Given the description of an element on the screen output the (x, y) to click on. 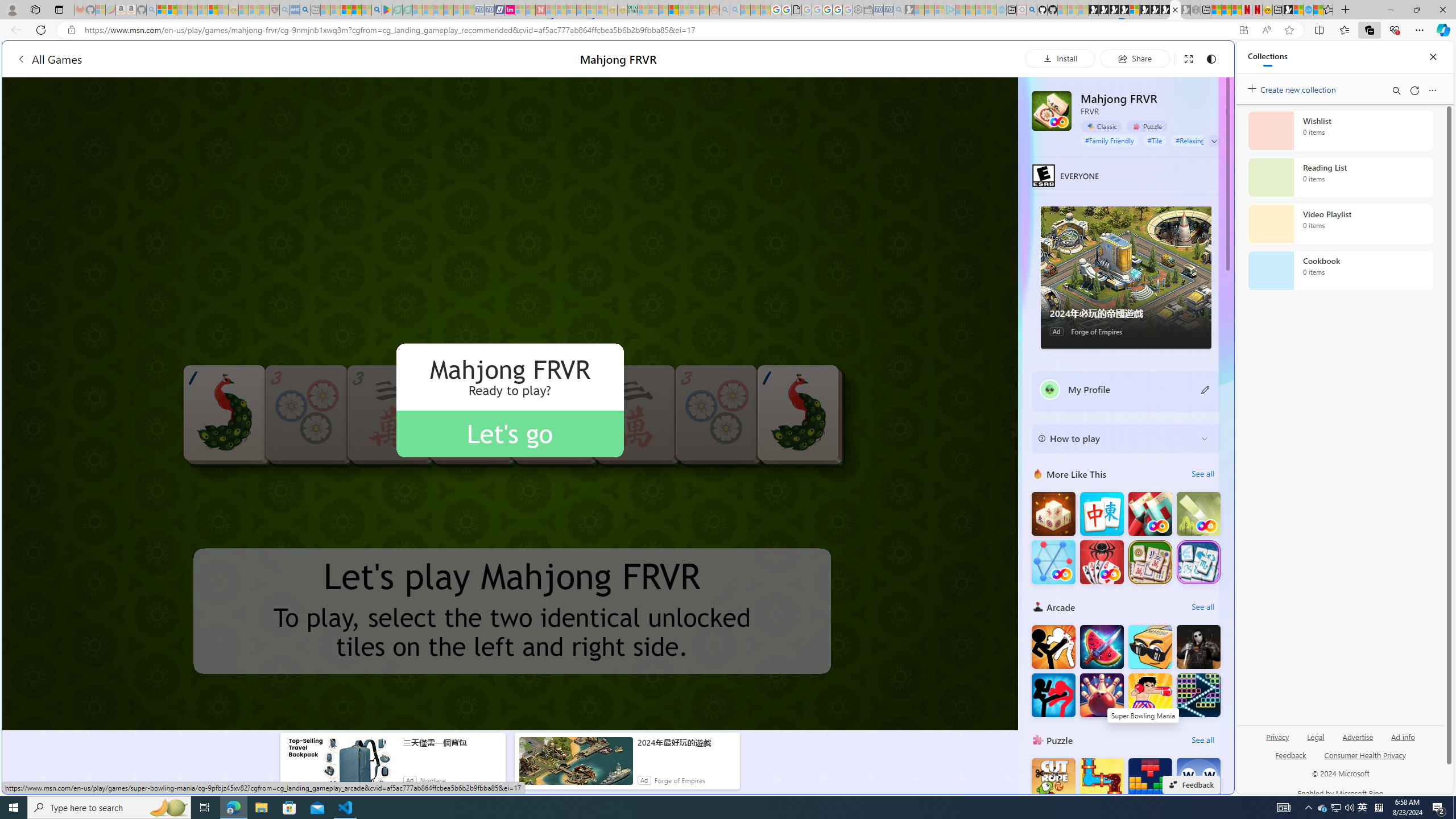
Close split screen (1208, 57)
Create new collection (1293, 87)
Video Playlist collection, 0 items (1339, 223)
Puzzle (1146, 125)
Play Cave FRVR in your browser | Games from Microsoft Start (922, 242)
Daily Mahjong (1149, 562)
Bricks Breaker Deluxe Crusher (1198, 694)
utah sues federal government - Search (304, 9)
Reading List collection, 0 items (1339, 177)
Wishlist collection, 0 items (1339, 130)
